Given the description of an element on the screen output the (x, y) to click on. 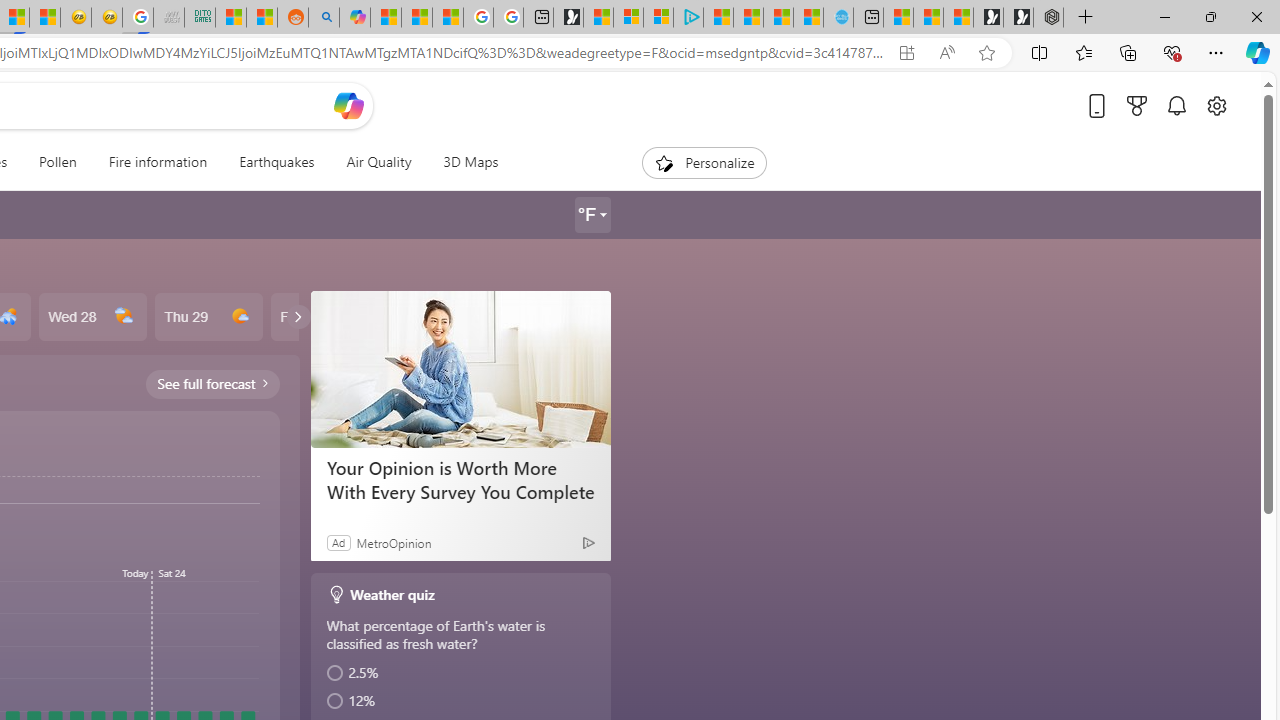
Navy Quest (168, 17)
Fire information (158, 162)
Fire information (157, 162)
Air Quality (378, 162)
Settings and more (Alt+F) (1215, 52)
Wed 28 (92, 317)
Ad Choice (588, 542)
Ad (338, 542)
12% (462, 701)
Microsoft Start Gaming (568, 17)
Fri 30 (324, 317)
Minimize (1164, 16)
